Given the description of an element on the screen output the (x, y) to click on. 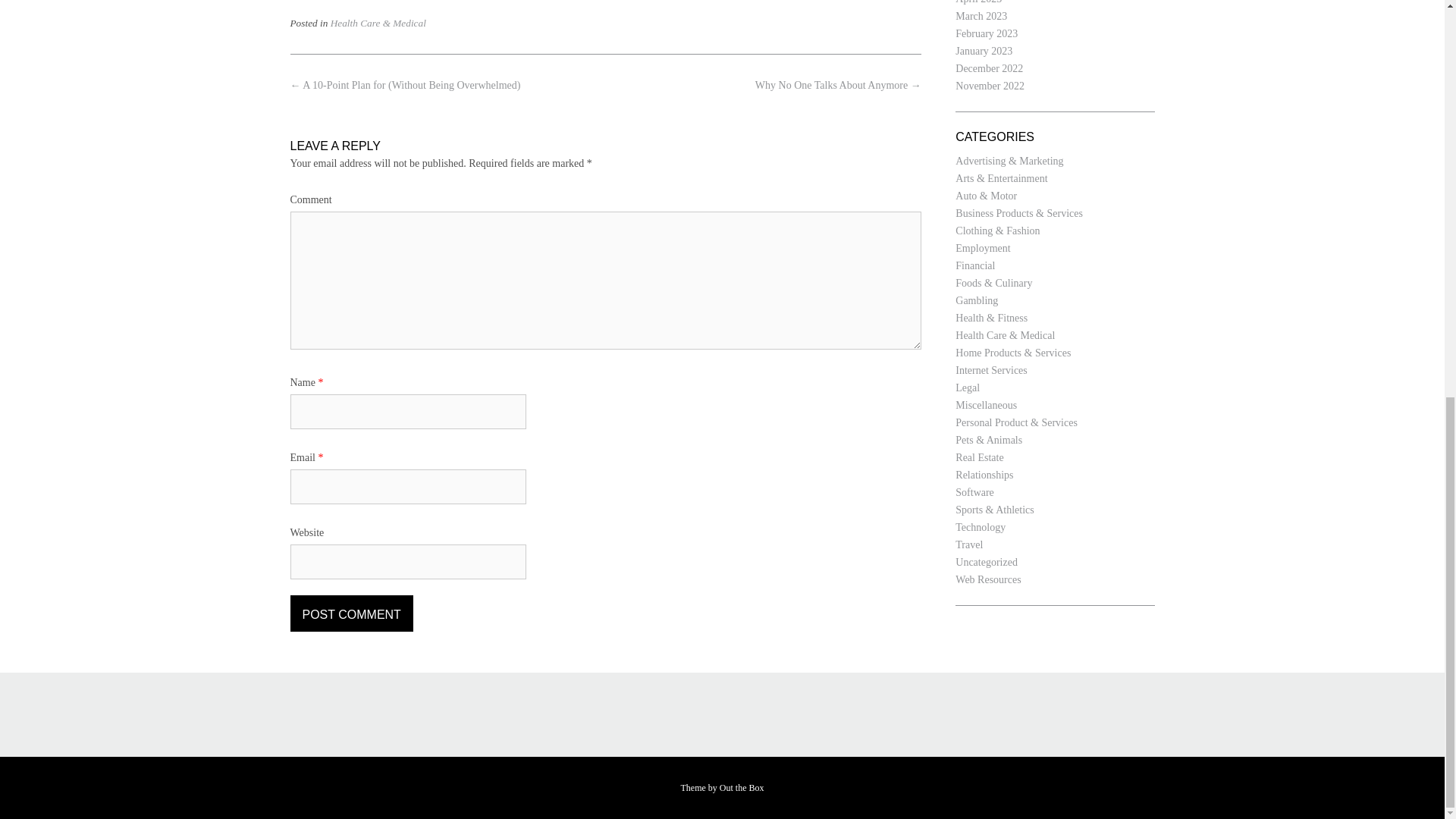
February 2023 (986, 33)
December 2022 (989, 68)
Post Comment (350, 613)
March 2023 (981, 16)
April 2023 (978, 2)
Post Comment (350, 613)
November 2022 (990, 85)
January 2023 (983, 50)
